Given the description of an element on the screen output the (x, y) to click on. 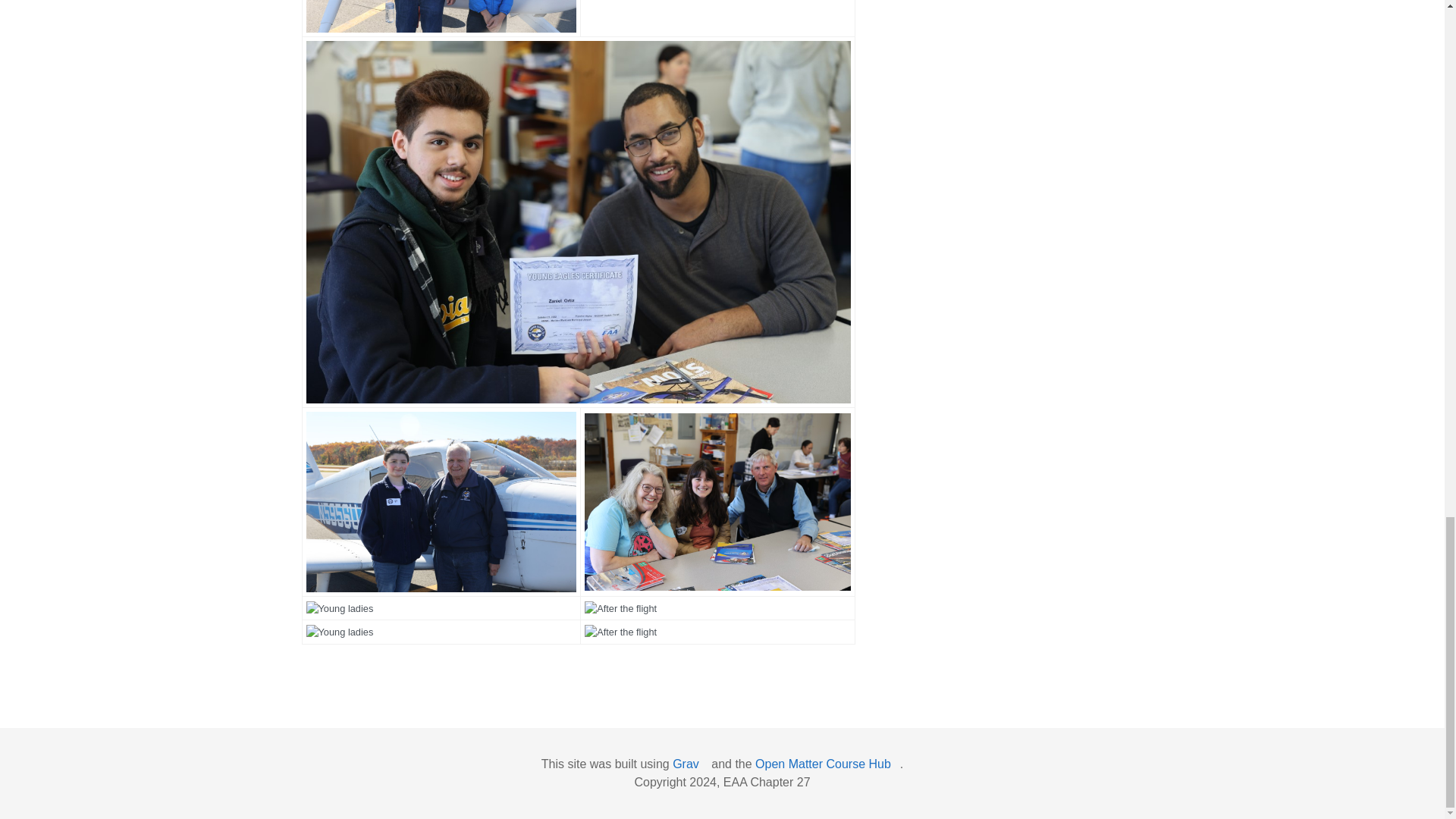
Open Matter Course Hub (827, 763)
Grav (689, 763)
